Given the description of an element on the screen output the (x, y) to click on. 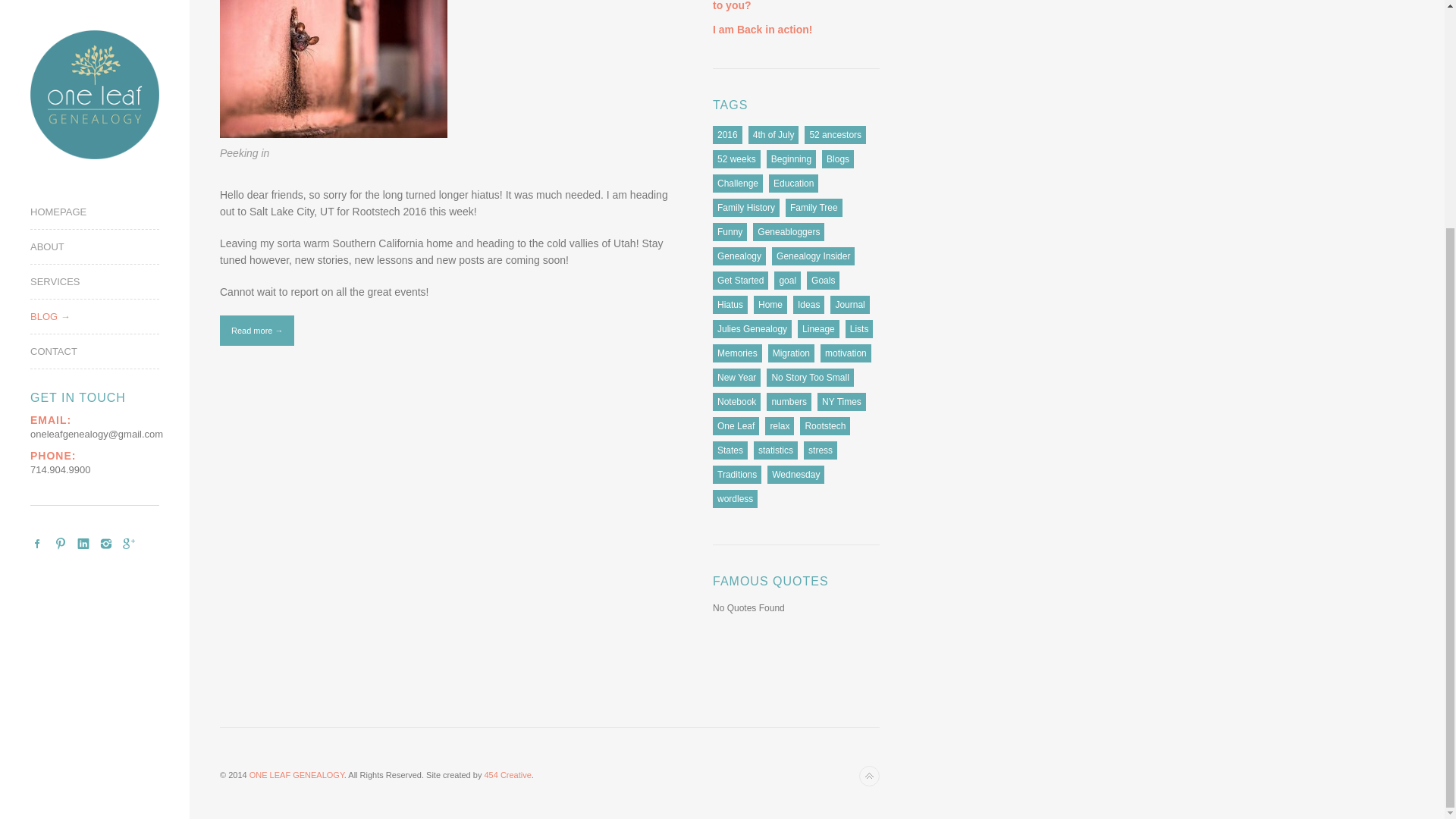
Beginning (791, 158)
Pinterest (60, 236)
Read more (256, 330)
INSTAGRAM (106, 236)
52 weeks (736, 158)
goal (787, 280)
1 topic (727, 135)
FACEBOOK (37, 236)
Hiatus (730, 304)
2016 (727, 135)
1 topic (835, 135)
1 topic (837, 158)
Instagram (106, 236)
1 topic (736, 158)
Funny (729, 231)
